Given the description of an element on the screen output the (x, y) to click on. 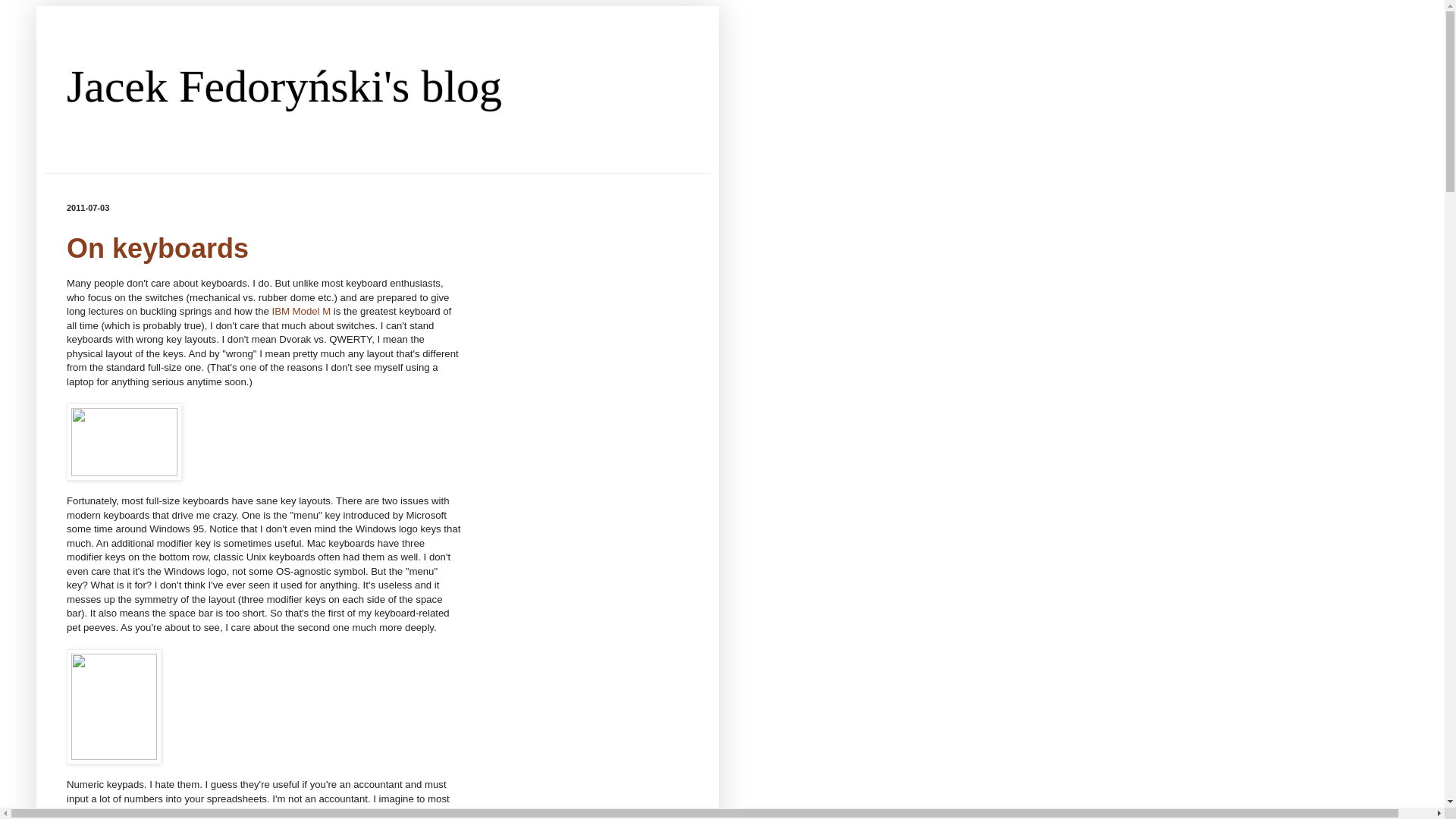
On keyboards (157, 247)
IBM Model M (301, 310)
